Given the description of an element on the screen output the (x, y) to click on. 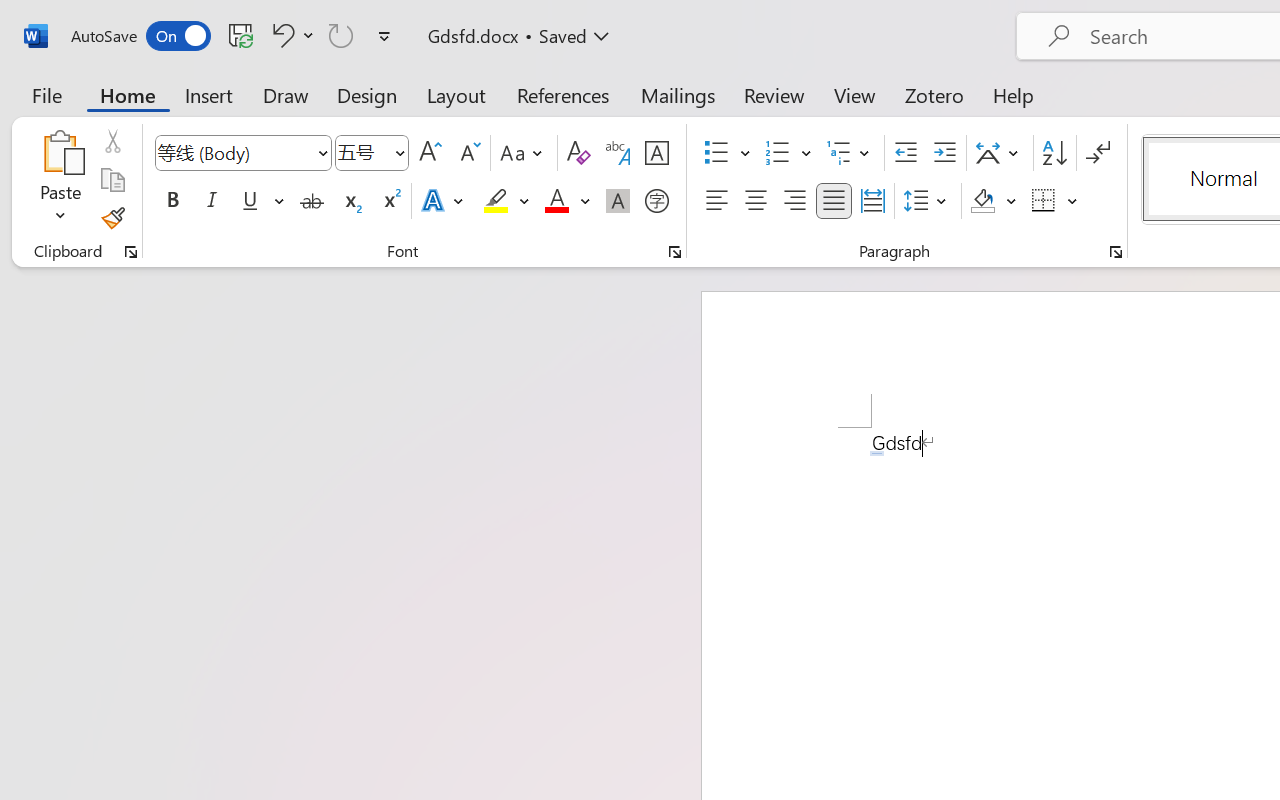
Character Border (656, 153)
Align Left (716, 201)
Distributed (872, 201)
Change Case (524, 153)
Subscript (350, 201)
